Given the description of an element on the screen output the (x, y) to click on. 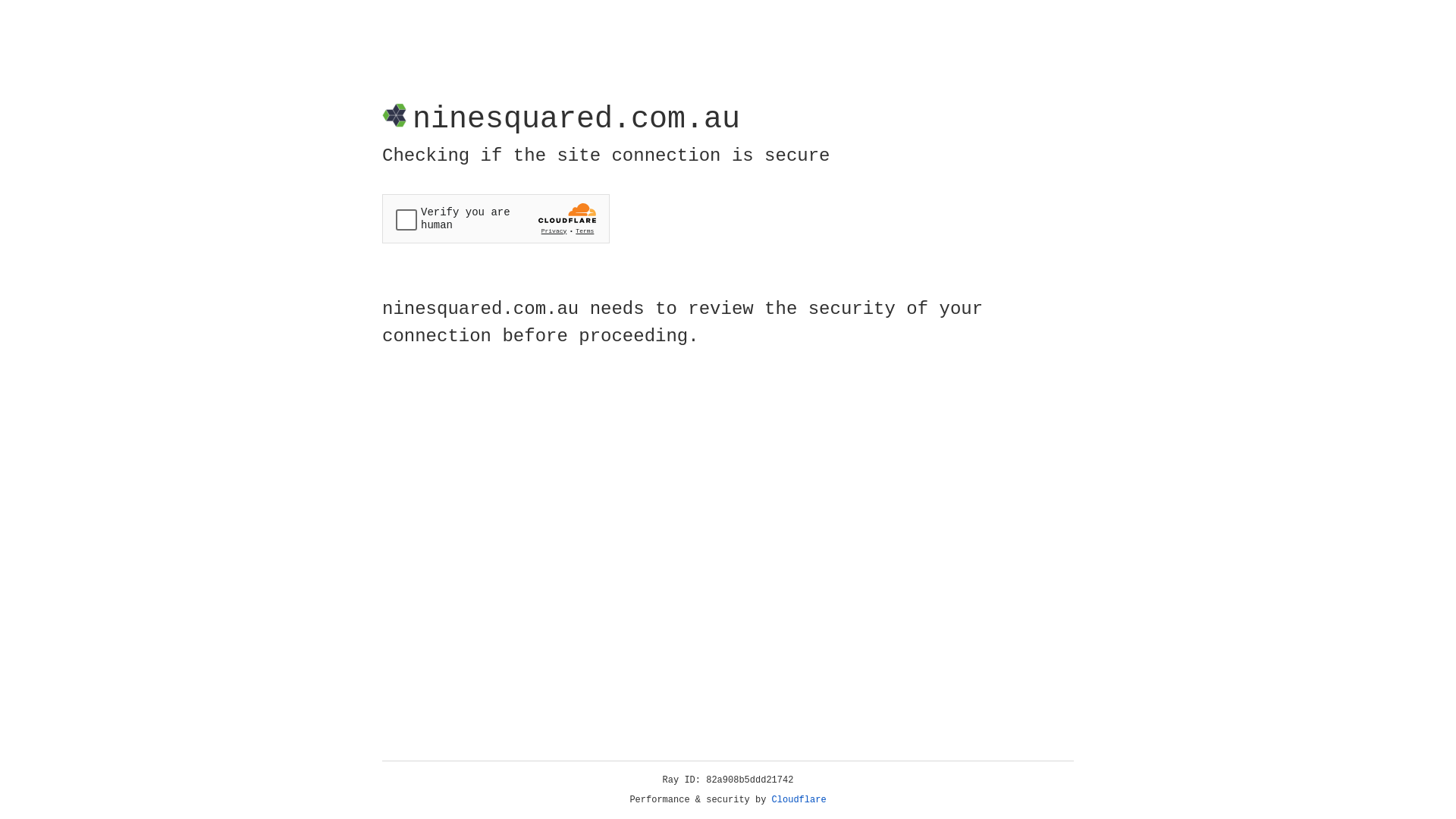
Widget containing a Cloudflare security challenge Element type: hover (495, 218)
Cloudflare Element type: text (798, 799)
